Given the description of an element on the screen output the (x, y) to click on. 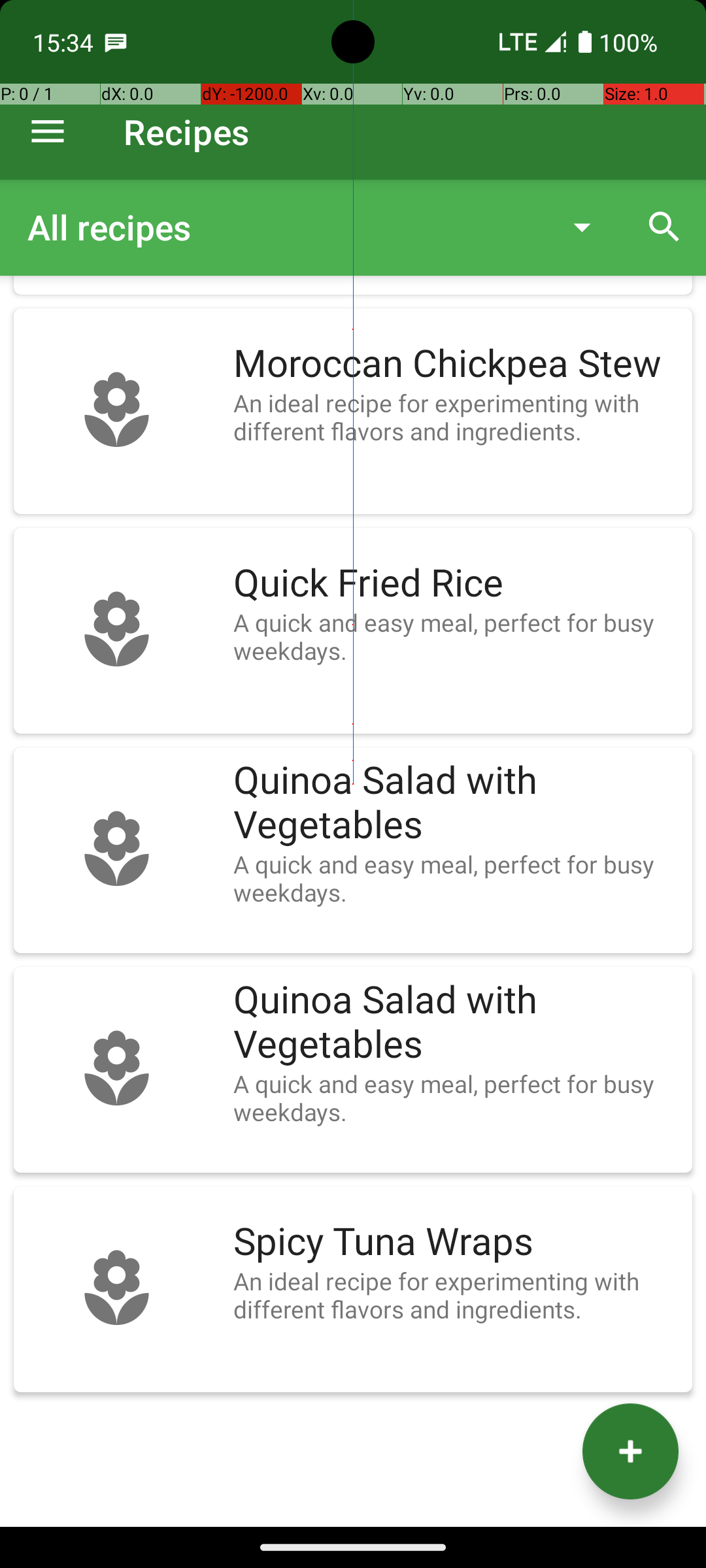
Spicy Tuna Wraps Element type: android.widget.TextView (455, 1241)
